Given the description of an element on the screen output the (x, y) to click on. 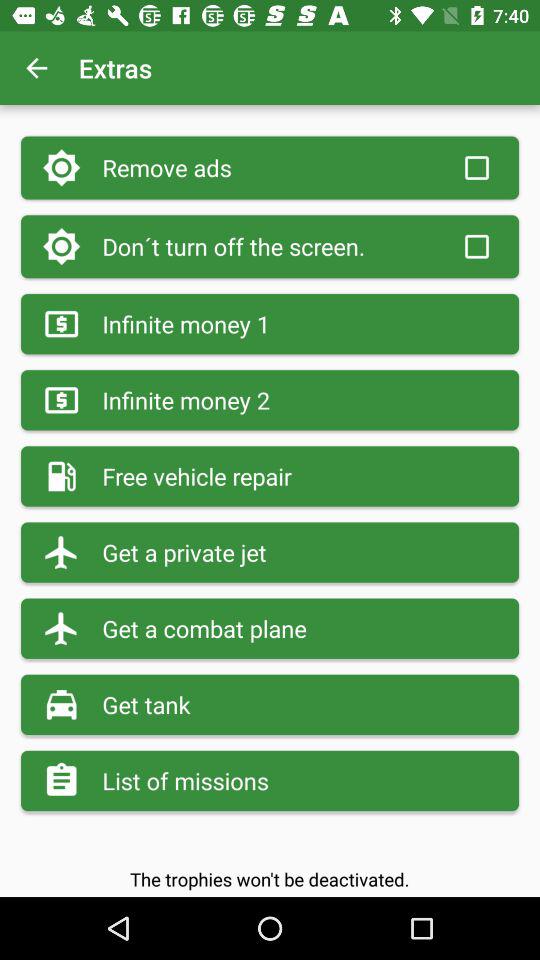
toggle do n't turn off the screen (477, 246)
